Given the description of an element on the screen output the (x, y) to click on. 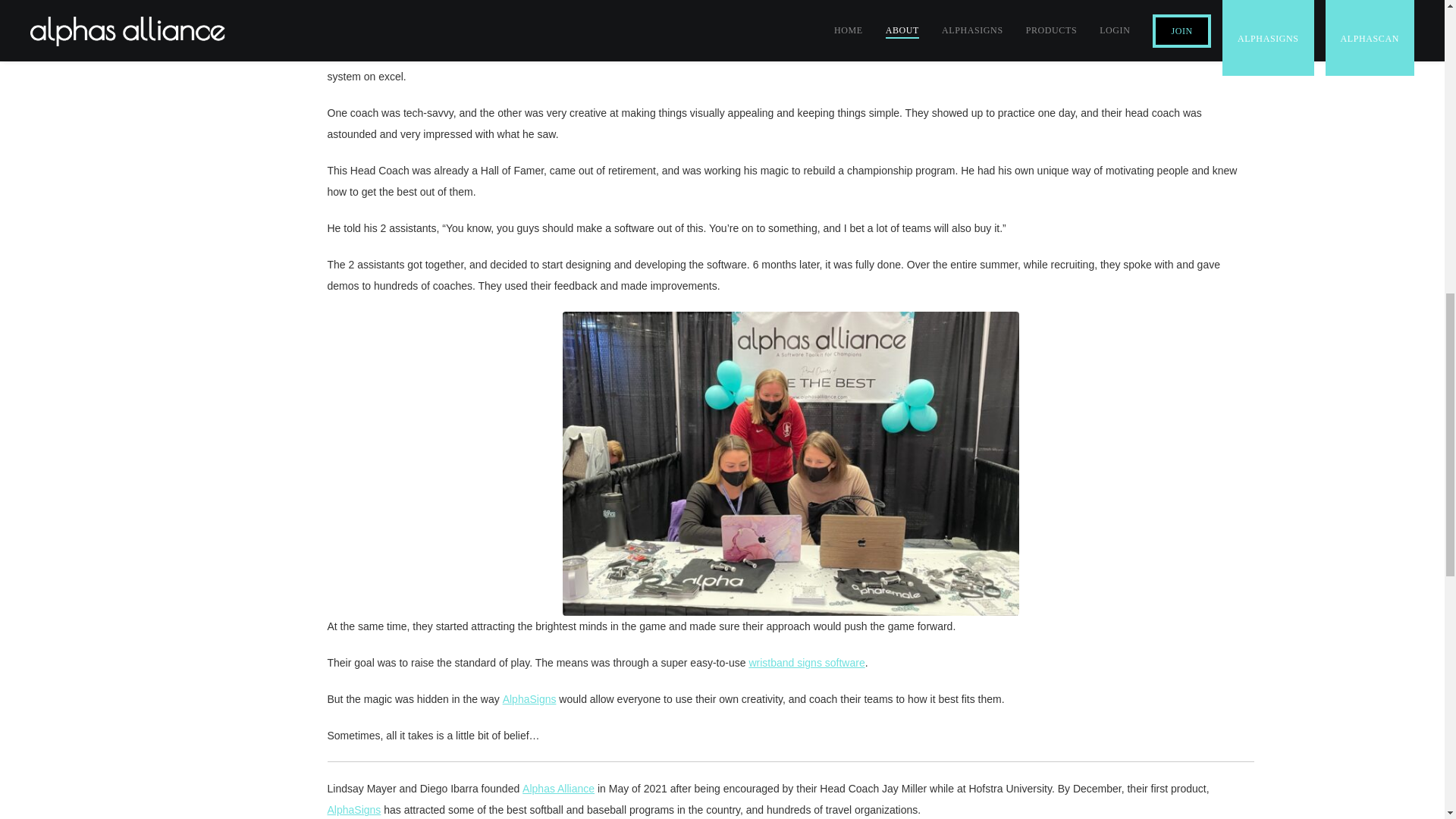
AlphaSigns (354, 809)
AlphaSigns (529, 698)
Alphas Alliance (558, 788)
wristband signs software (806, 662)
